Given the description of an element on the screen output the (x, y) to click on. 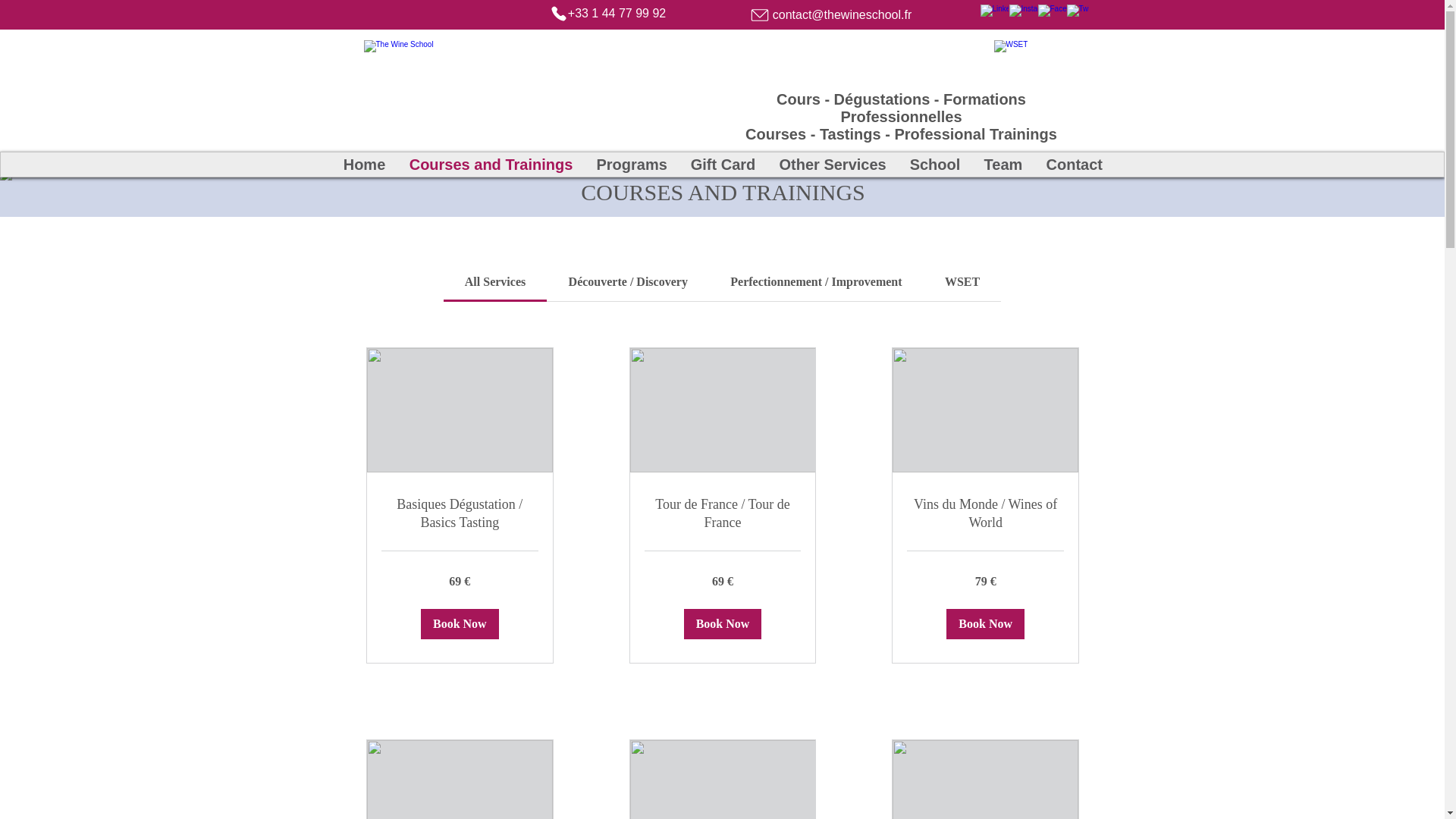
Book Now (985, 624)
Courses and Trainings (491, 164)
Gift Card (722, 164)
Home (363, 164)
Contact (1073, 164)
Book Now (458, 624)
The Wine School (479, 83)
School (935, 164)
Team (1002, 164)
Book Now (721, 624)
